Given the description of an element on the screen output the (x, y) to click on. 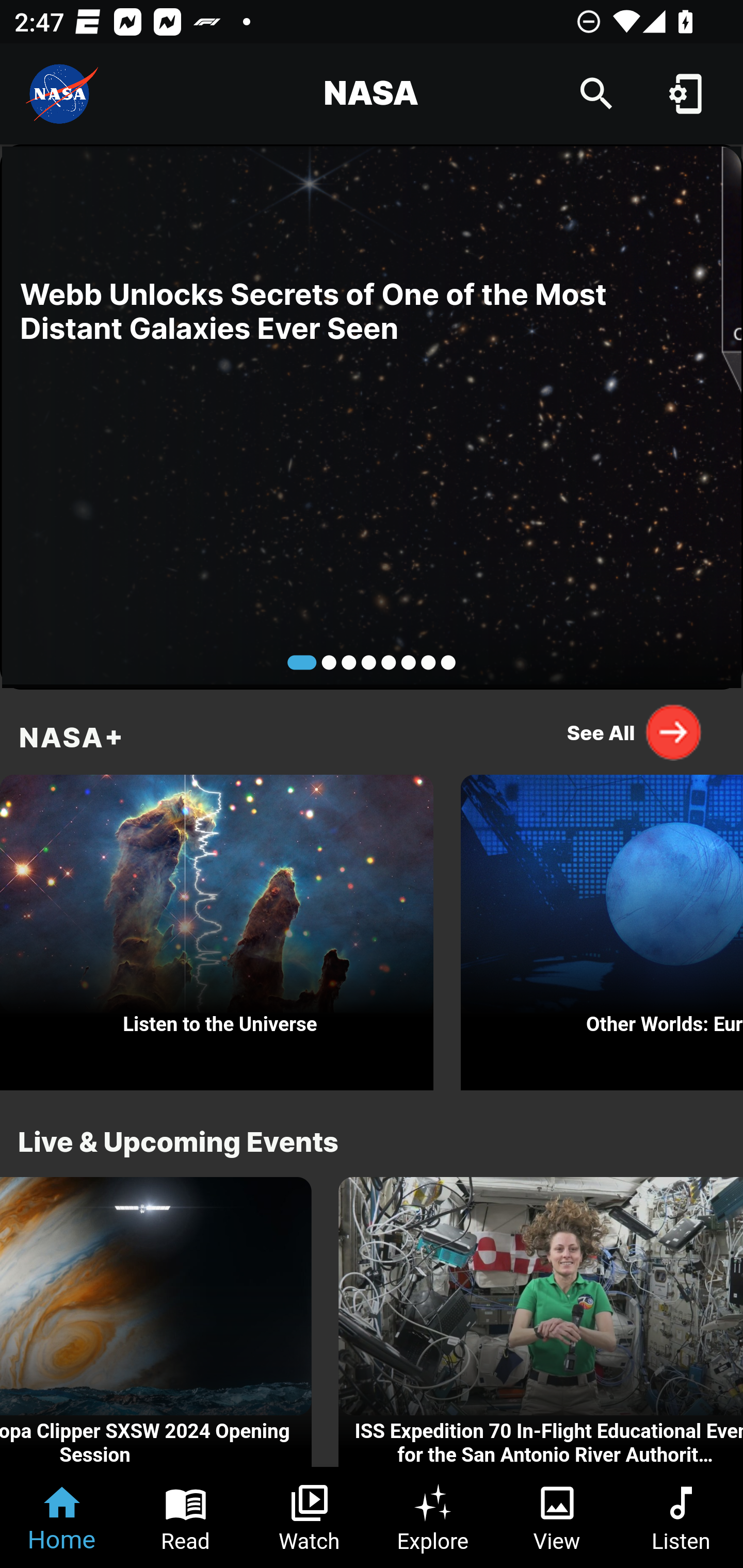
See All (634, 732)
Listen to the Universe (216, 927)
Other Worlds: Europa (601, 927)
NASA's Europa Clipper SXSW 2024 Opening Session (155, 1322)
Home
Tab 1 of 6 (62, 1517)
Read
Tab 2 of 6 (185, 1517)
Watch
Tab 3 of 6 (309, 1517)
Explore
Tab 4 of 6 (433, 1517)
View
Tab 5 of 6 (556, 1517)
Listen
Tab 6 of 6 (680, 1517)
